Given the description of an element on the screen output the (x, y) to click on. 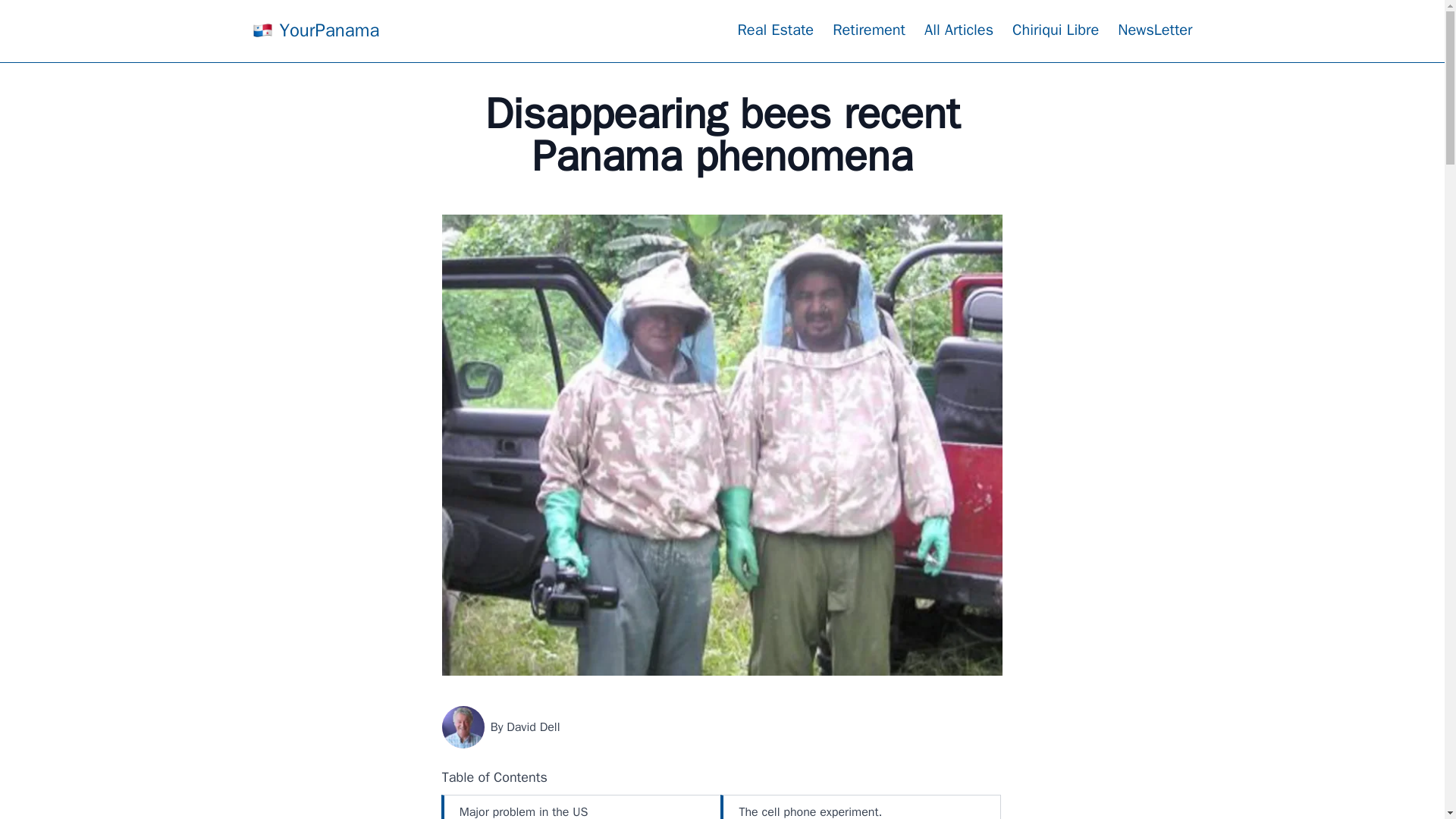
Chiriqui Libre (1055, 30)
Retirement (868, 30)
Major problem in the US (582, 807)
All Articles (958, 30)
NewsLetter (1155, 30)
The cell phone experiment. (861, 807)
YourPanama (314, 31)
Real Estate (774, 30)
